Given the description of an element on the screen output the (x, y) to click on. 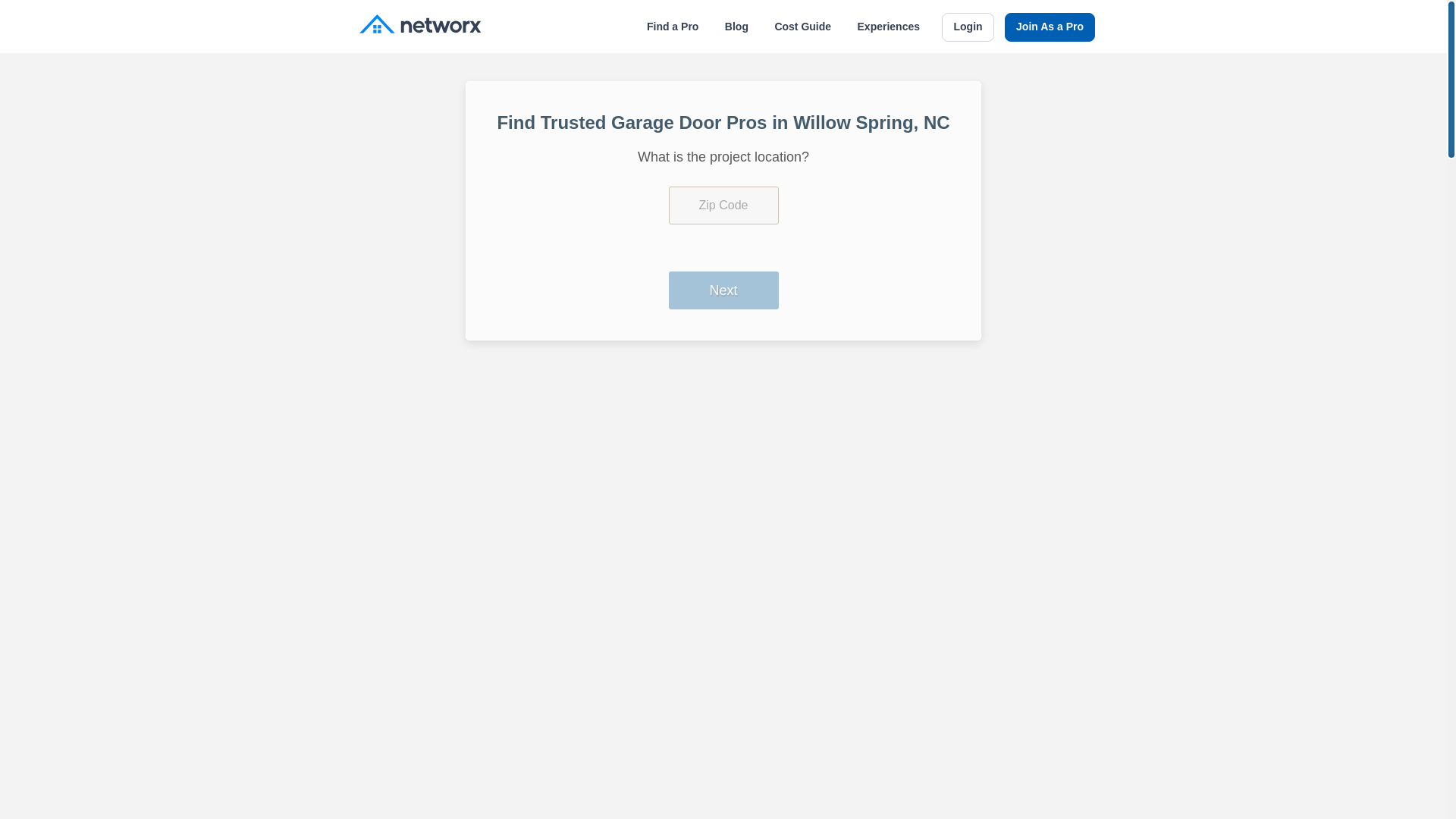
Find a Pro (672, 26)
Join As a Pro (1049, 27)
Experiences (888, 26)
Cost Guide (802, 26)
Networx (419, 25)
Next (723, 290)
Login (967, 27)
Please enter a valid zip code (723, 205)
